Given the description of an element on the screen output the (x, y) to click on. 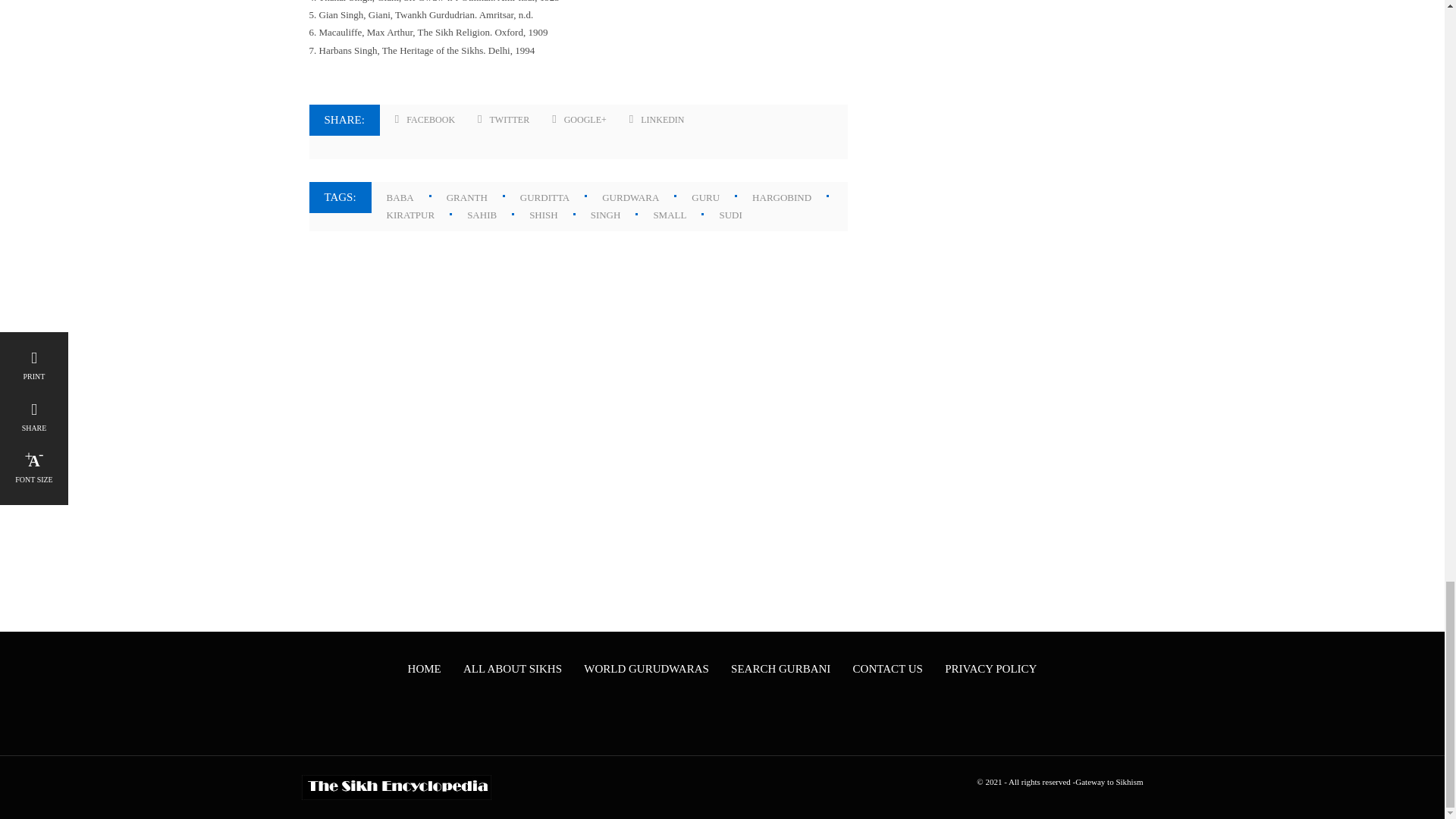
Share toLinkedin (656, 120)
Share toFacebook (424, 120)
Share toTwitter (503, 120)
The Sikh Encyclopedia (396, 787)
